Given the description of an element on the screen output the (x, y) to click on. 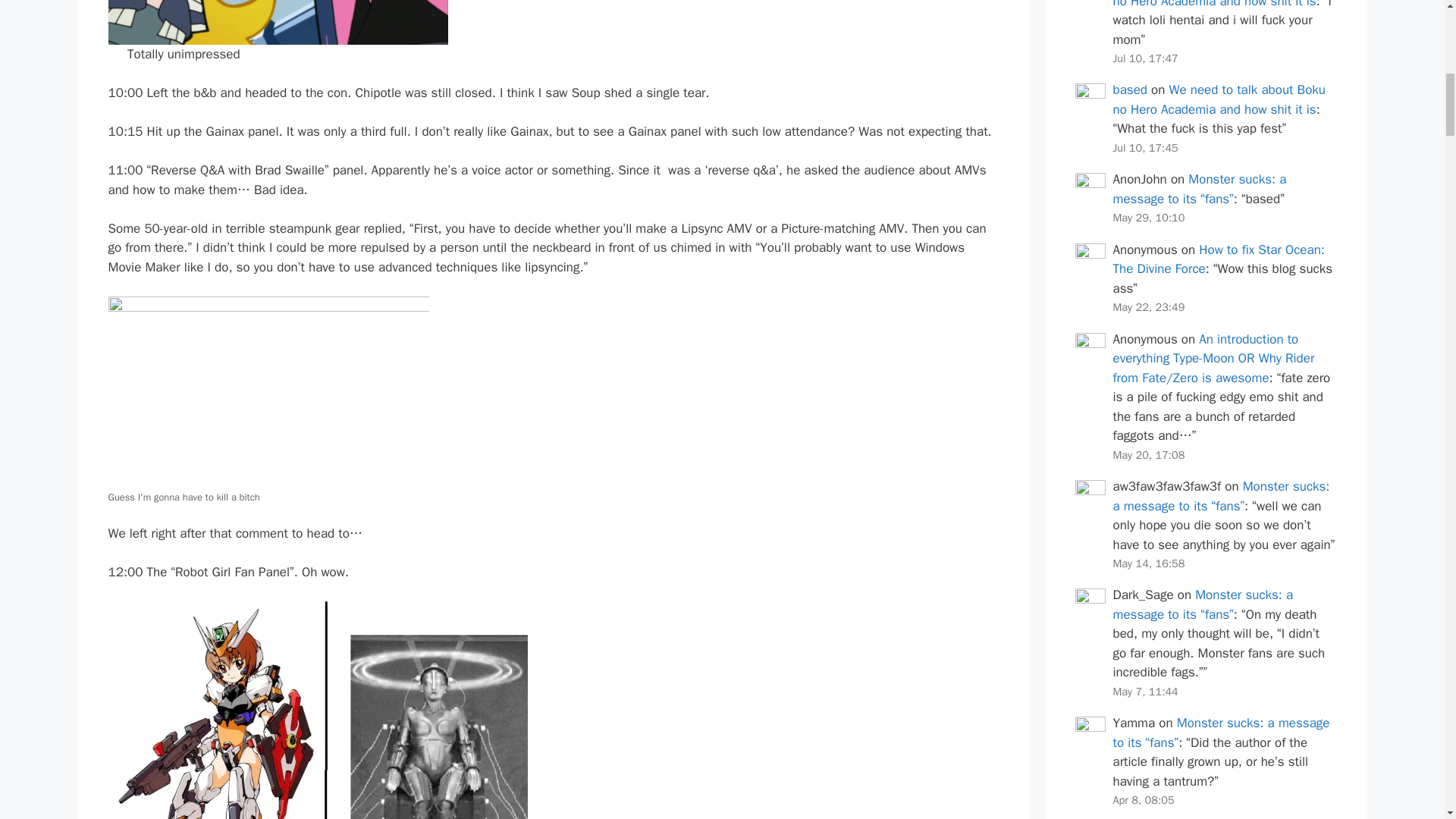
dammit (317, 710)
ps-unimpressed (276, 22)
114 (267, 391)
